Given the description of an element on the screen output the (x, y) to click on. 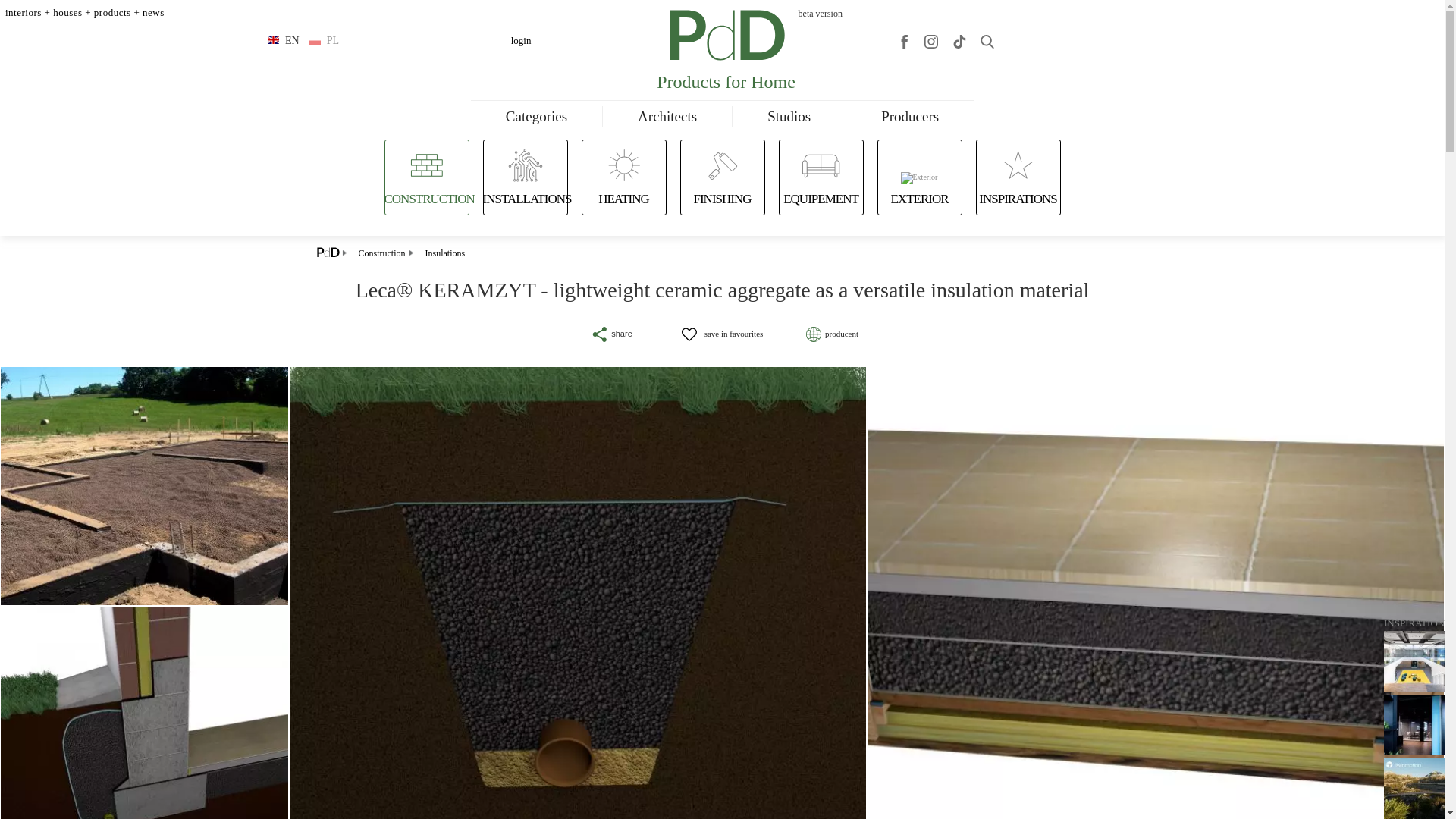
panel-uzytkownika (521, 40)
HEATING (623, 198)
login (521, 40)
TikTok (959, 41)
Producers (909, 116)
Categories (536, 116)
INSTALLATIONS (525, 198)
wyszukiwarka (986, 41)
CONSTRUCTION (429, 198)
